Given the description of an element on the screen output the (x, y) to click on. 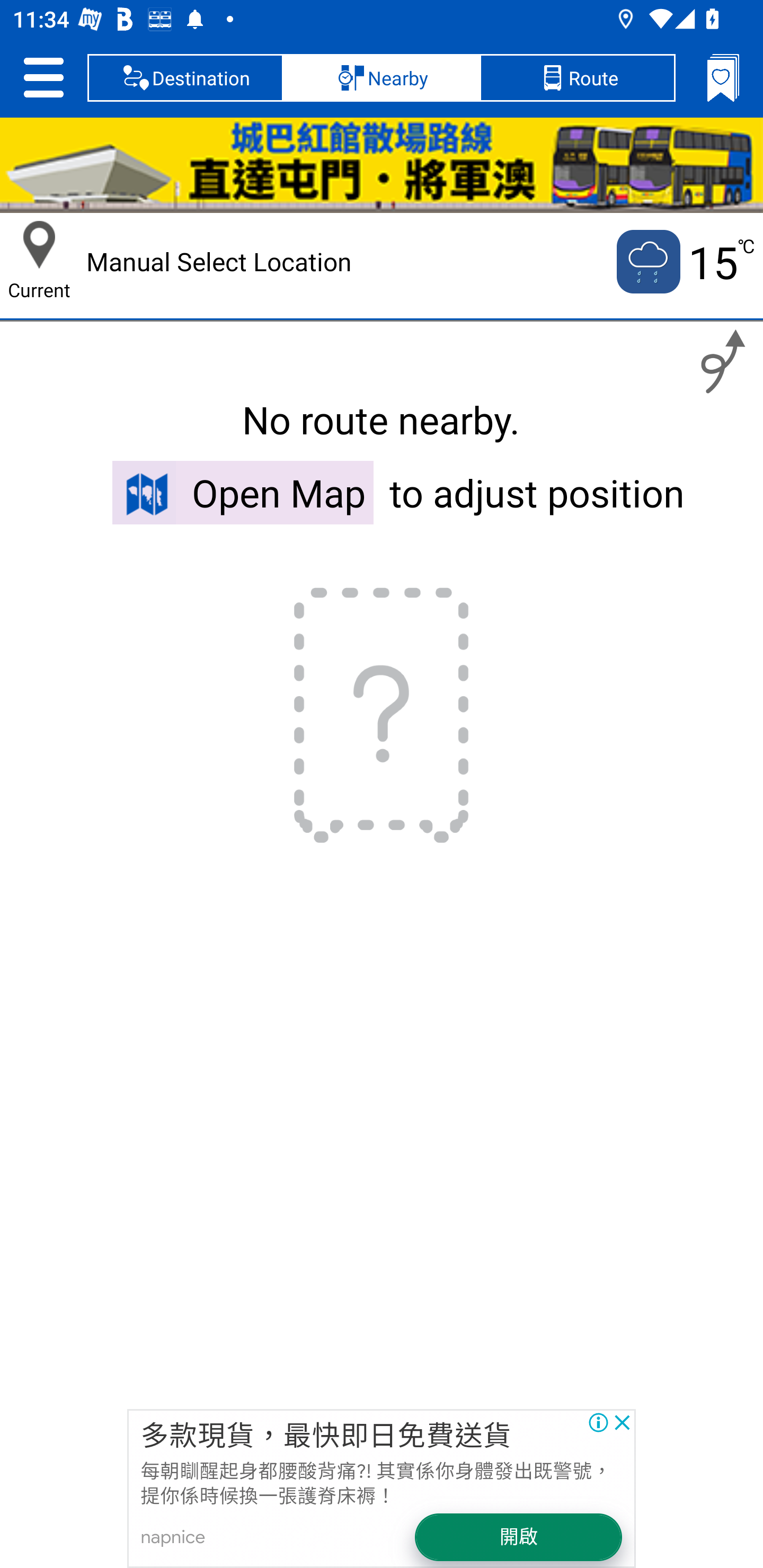
Destination (185, 77)
Nearby, selected (381, 77)
Route (577, 77)
Bookmarks (723, 77)
Setting (43, 77)
HKC (381, 165)
Current Location (38, 244)
Current temputure is  15  no 15 ℃ (684, 261)
Open Map (242, 491)
多款現貨，最快即日免費送貨 (325, 1437)
開啟 (519, 1537)
napnice (172, 1537)
